Given the description of an element on the screen output the (x, y) to click on. 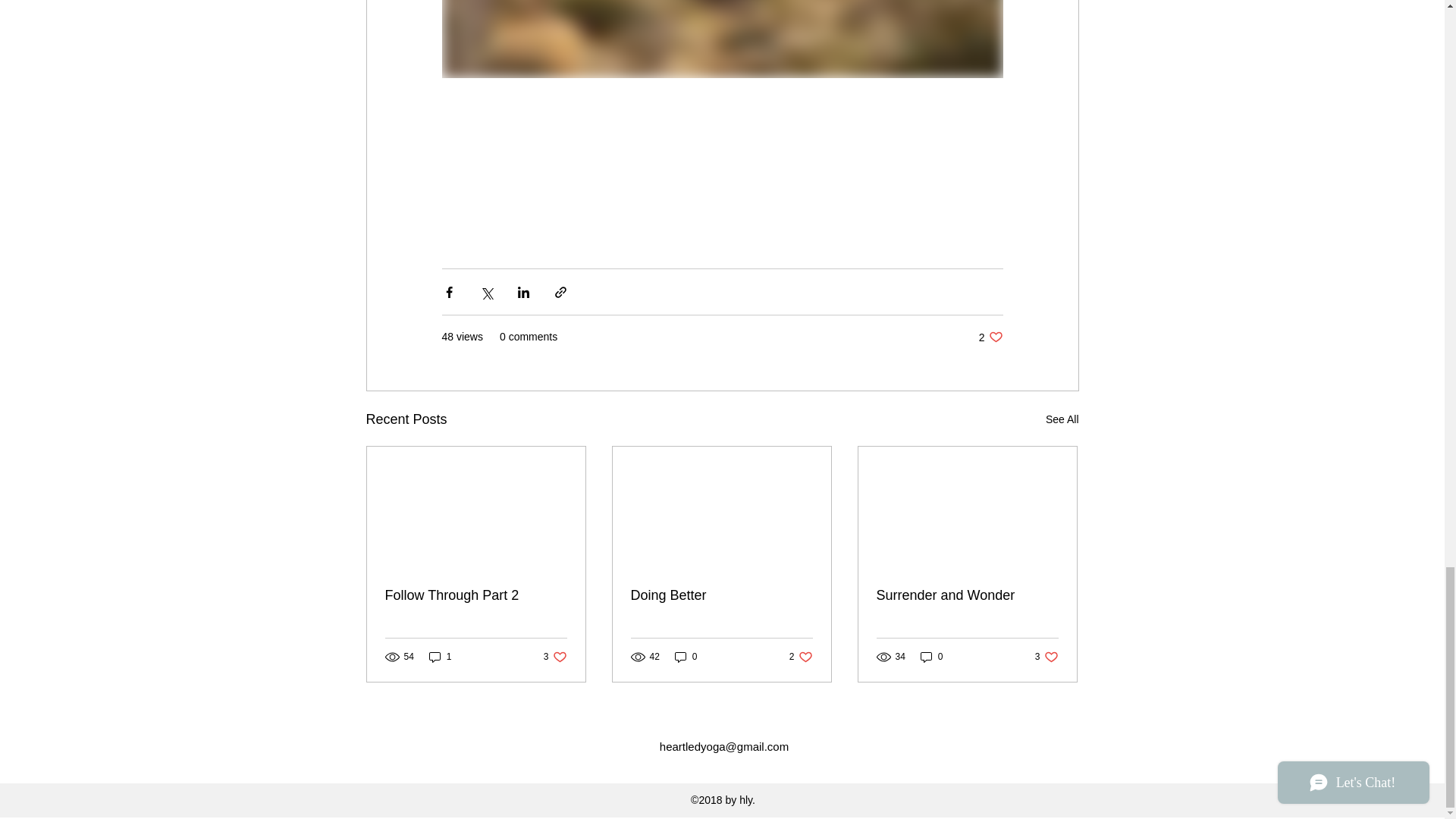
1 (555, 657)
Follow Through Part 2 (440, 657)
0 (476, 595)
Doing Better (990, 336)
0 (931, 657)
Surrender and Wonder (721, 595)
See All (685, 657)
